Given the description of an element on the screen output the (x, y) to click on. 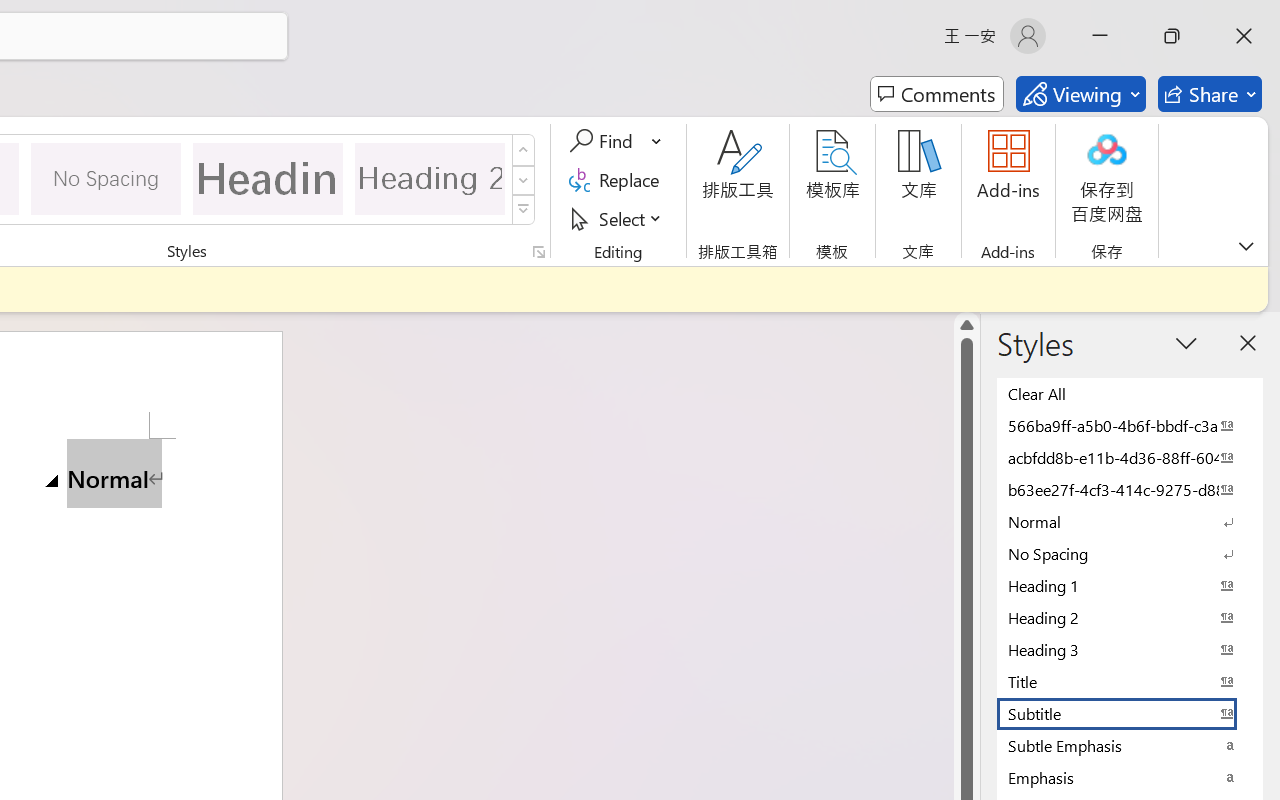
Clear All (1130, 393)
Row Down (523, 180)
Title (1130, 681)
Replace... (617, 179)
Heading 3 (1130, 649)
acbfdd8b-e11b-4d36-88ff-6049b138f862 (1130, 457)
Subtle Emphasis (1130, 745)
Subtitle (1130, 713)
Task Pane Options (1186, 343)
